Given the description of an element on the screen output the (x, y) to click on. 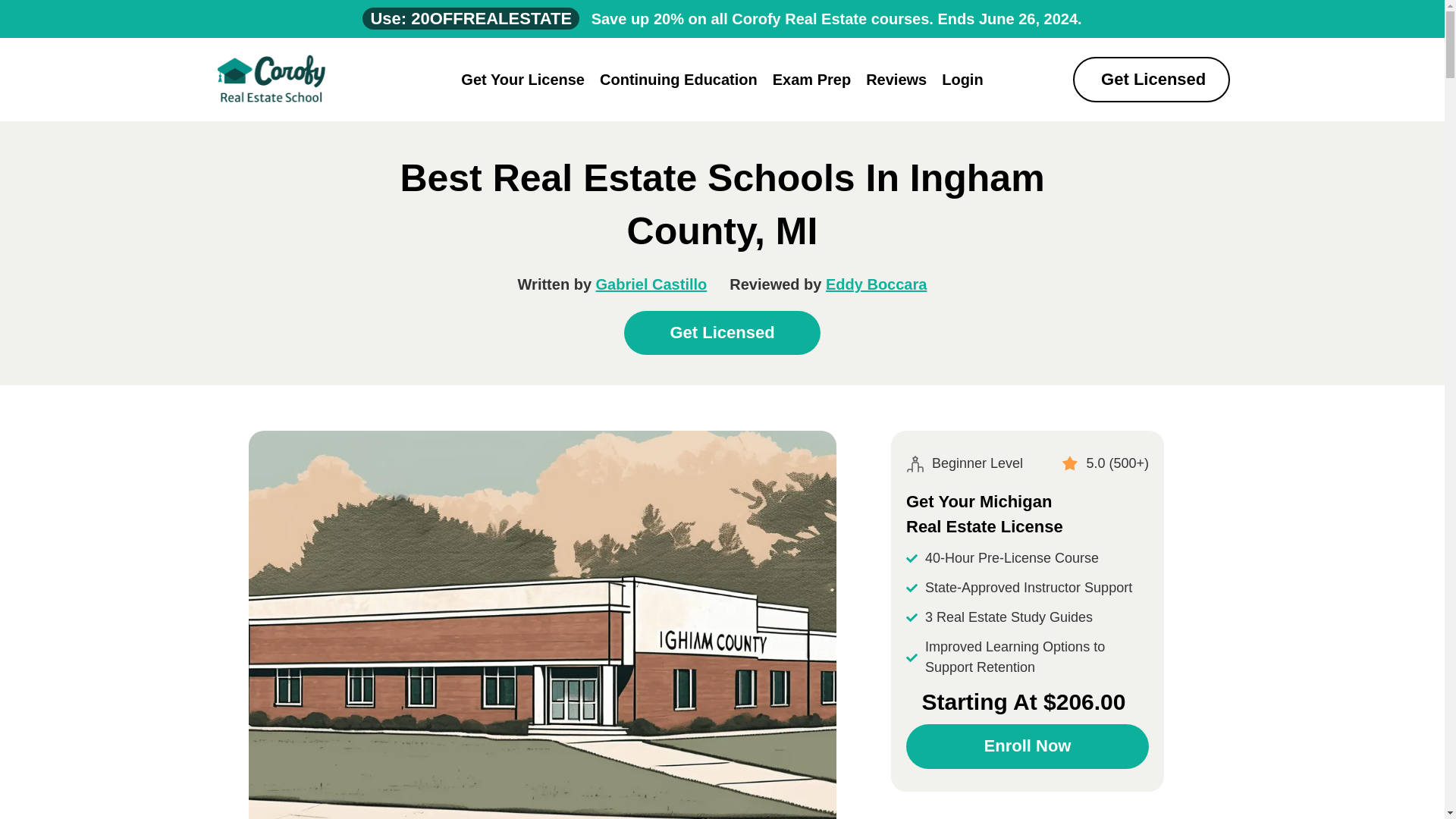
Get Licensed (721, 332)
Eddy Boccara (875, 284)
Get Licensed (1151, 79)
Use: 20OFFREALESTATE (470, 18)
Gabriel Castillo (651, 284)
Continuing Education (678, 78)
Enroll Now (1026, 746)
Get Your License (522, 78)
Reviews (896, 78)
Login (962, 78)
Exam Prep (812, 78)
